Given the description of an element on the screen output the (x, y) to click on. 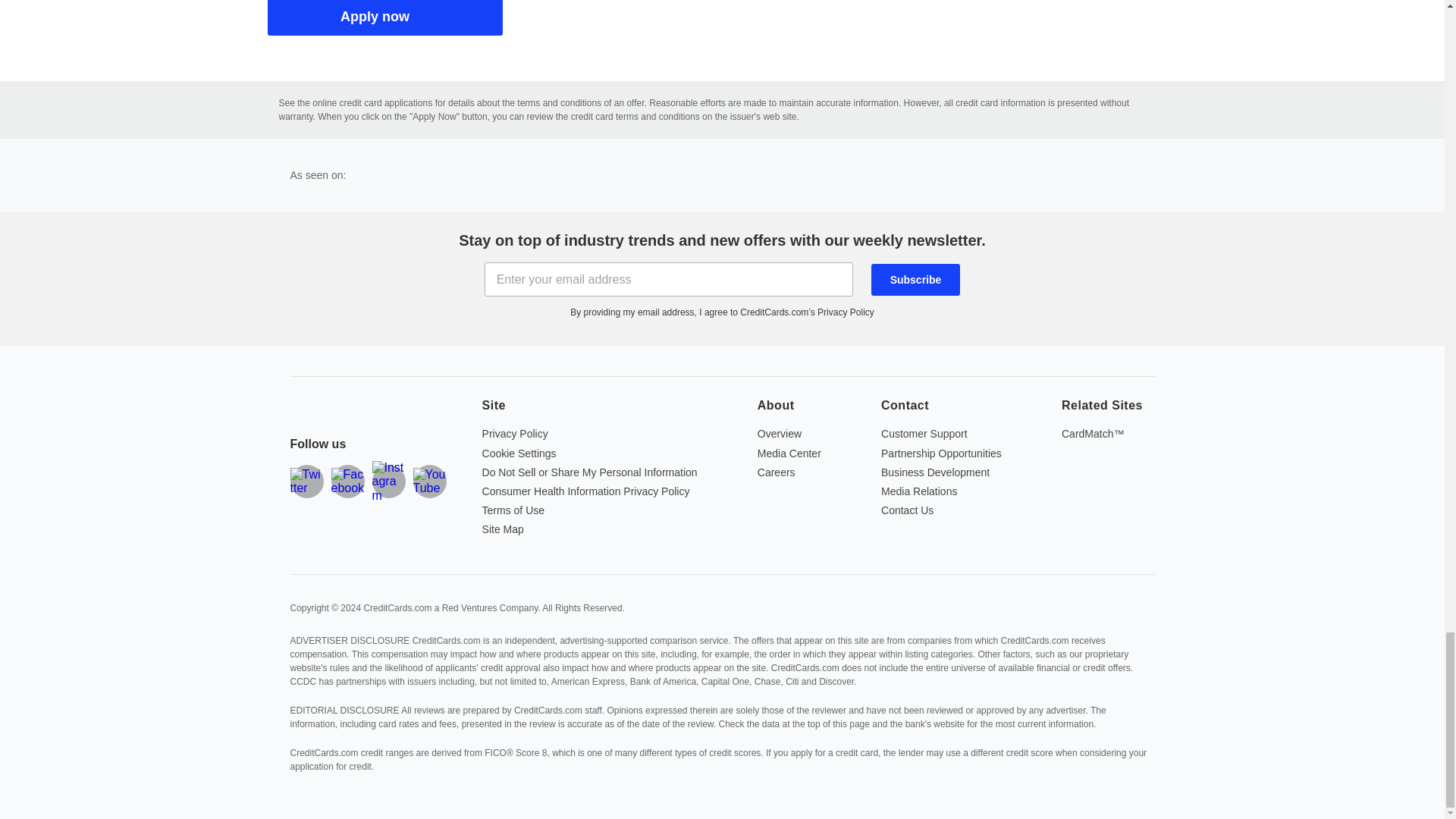
Facebook (347, 481)
Twitter (306, 481)
Instagram (387, 481)
YouTube (428, 481)
